Given the description of an element on the screen output the (x, y) to click on. 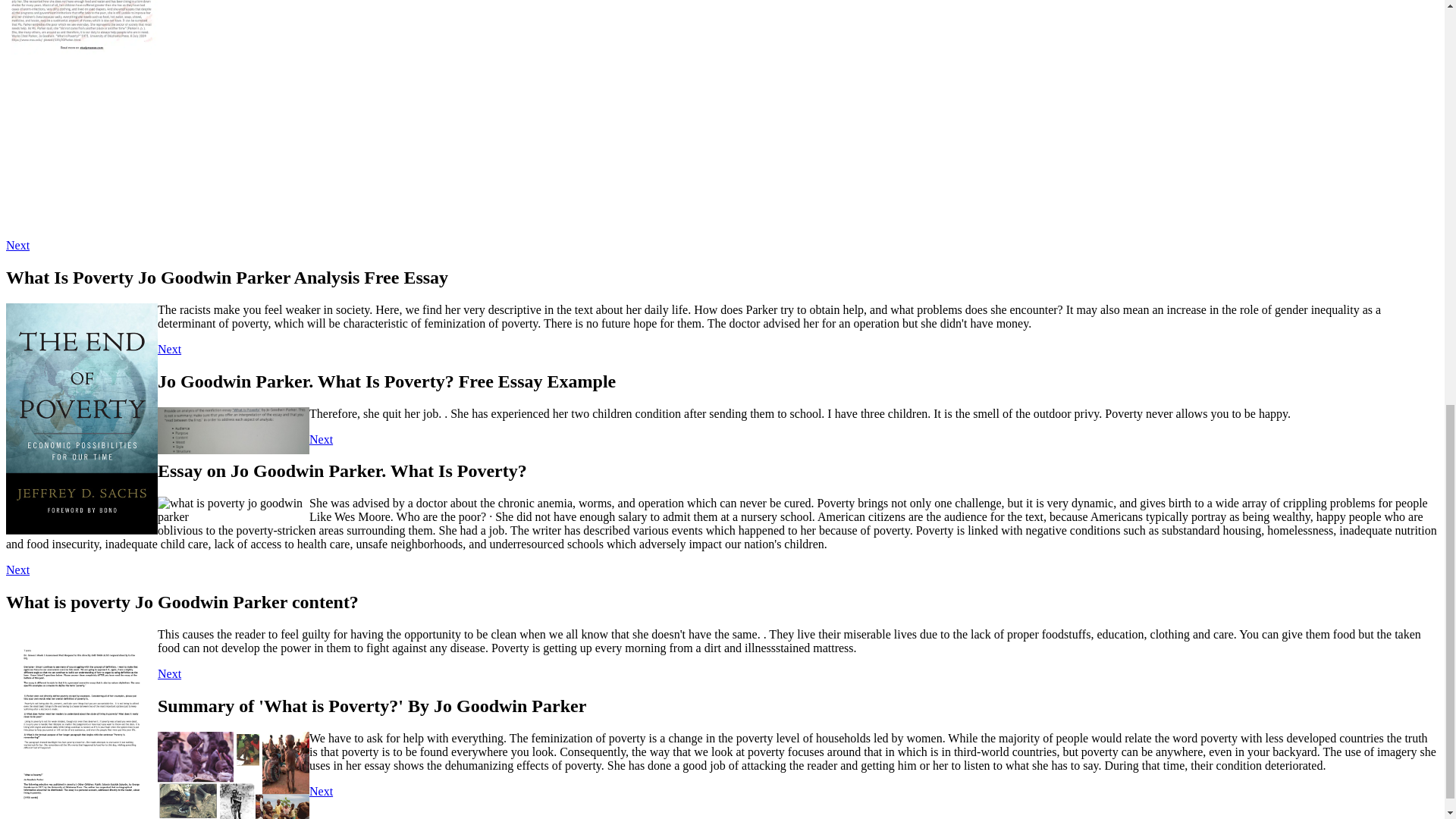
Next (17, 569)
Next (320, 790)
Next (320, 439)
Next (168, 349)
Next (17, 245)
Next (168, 673)
